Given the description of an element on the screen output the (x, y) to click on. 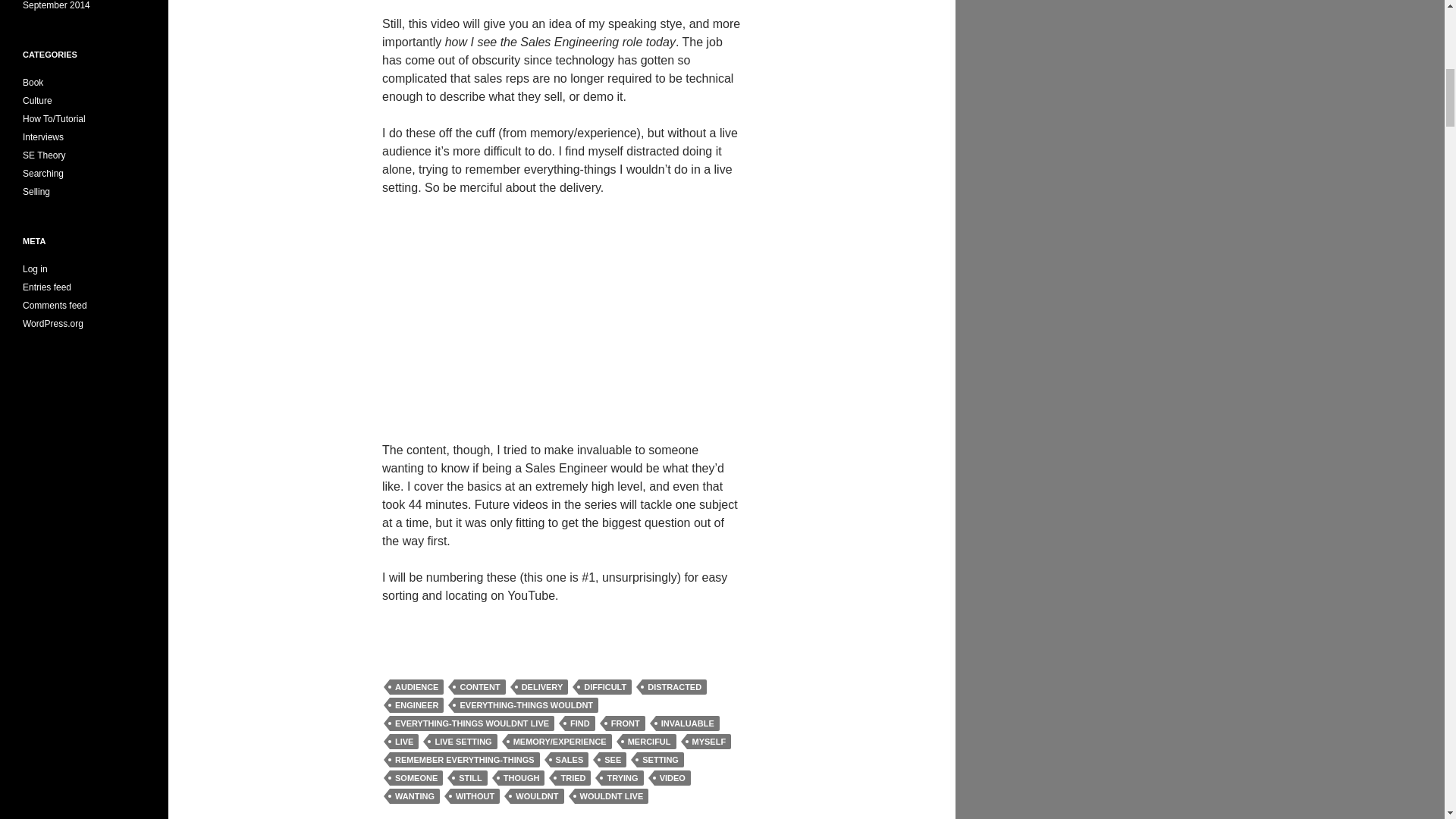
LIVE SETTING (462, 741)
INVALUABLE (687, 723)
DELIVERY (542, 686)
EVERYTHING-THINGS WOULDNT (526, 704)
STILL (469, 777)
TRYING (622, 777)
AUDIENCE (417, 686)
ENGINEER (417, 704)
TRIED (572, 777)
EVERYTHING-THINGS WOULDNT LIVE (472, 723)
MERCIFUL (650, 741)
FRONT (625, 723)
SALES (569, 759)
MYSELF (709, 741)
SOMEONE (416, 777)
